Given the description of an element on the screen output the (x, y) to click on. 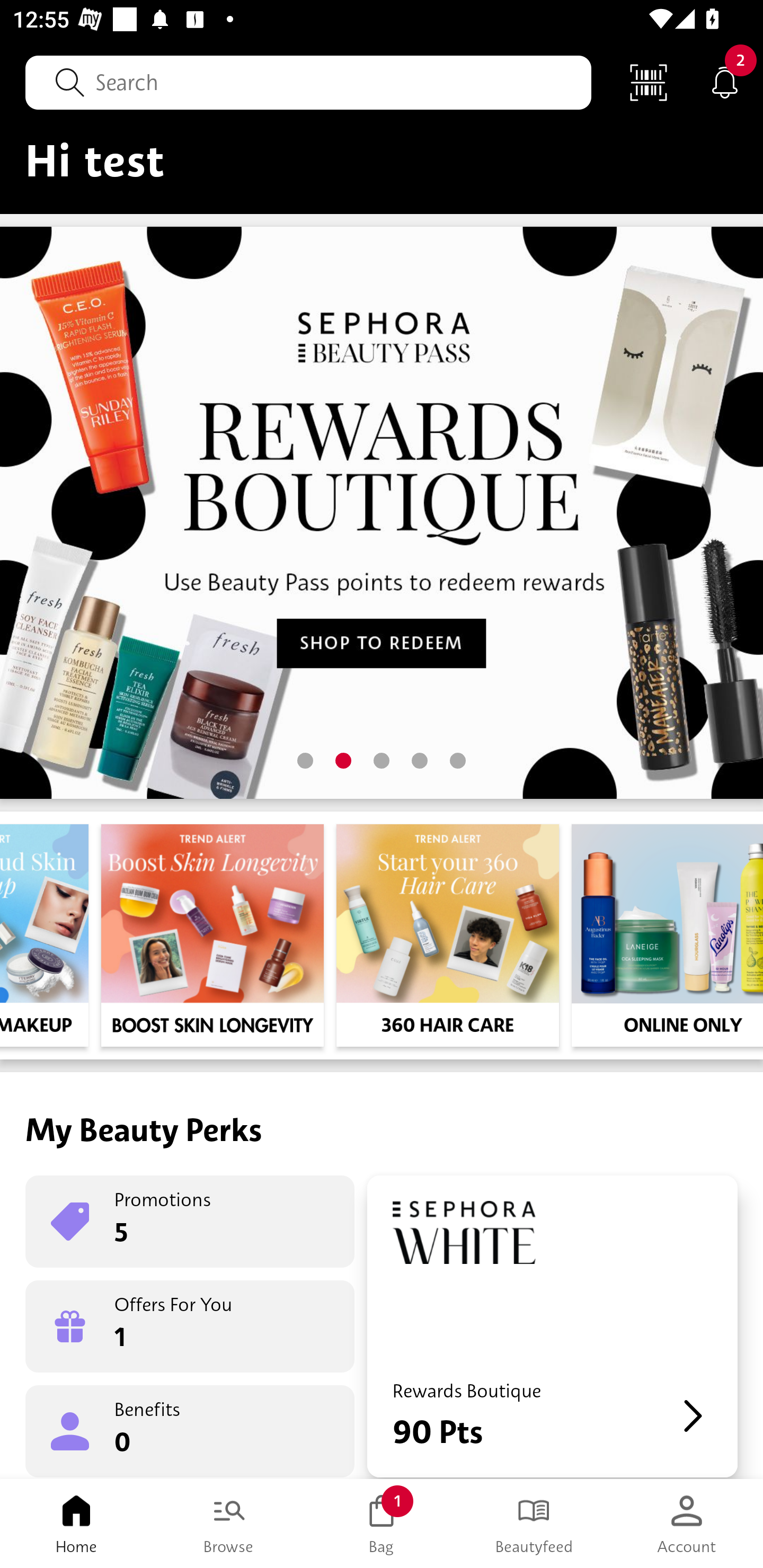
Scan Code (648, 81)
Notifications (724, 81)
Search (308, 81)
Promotions 5 (189, 1221)
Rewards Boutique 90 Pts (552, 1326)
Offers For You 1 (189, 1326)
Benefits 0 (189, 1430)
Browse (228, 1523)
Bag 1 Bag (381, 1523)
Beautyfeed (533, 1523)
Account (686, 1523)
